Given the description of an element on the screen output the (x, y) to click on. 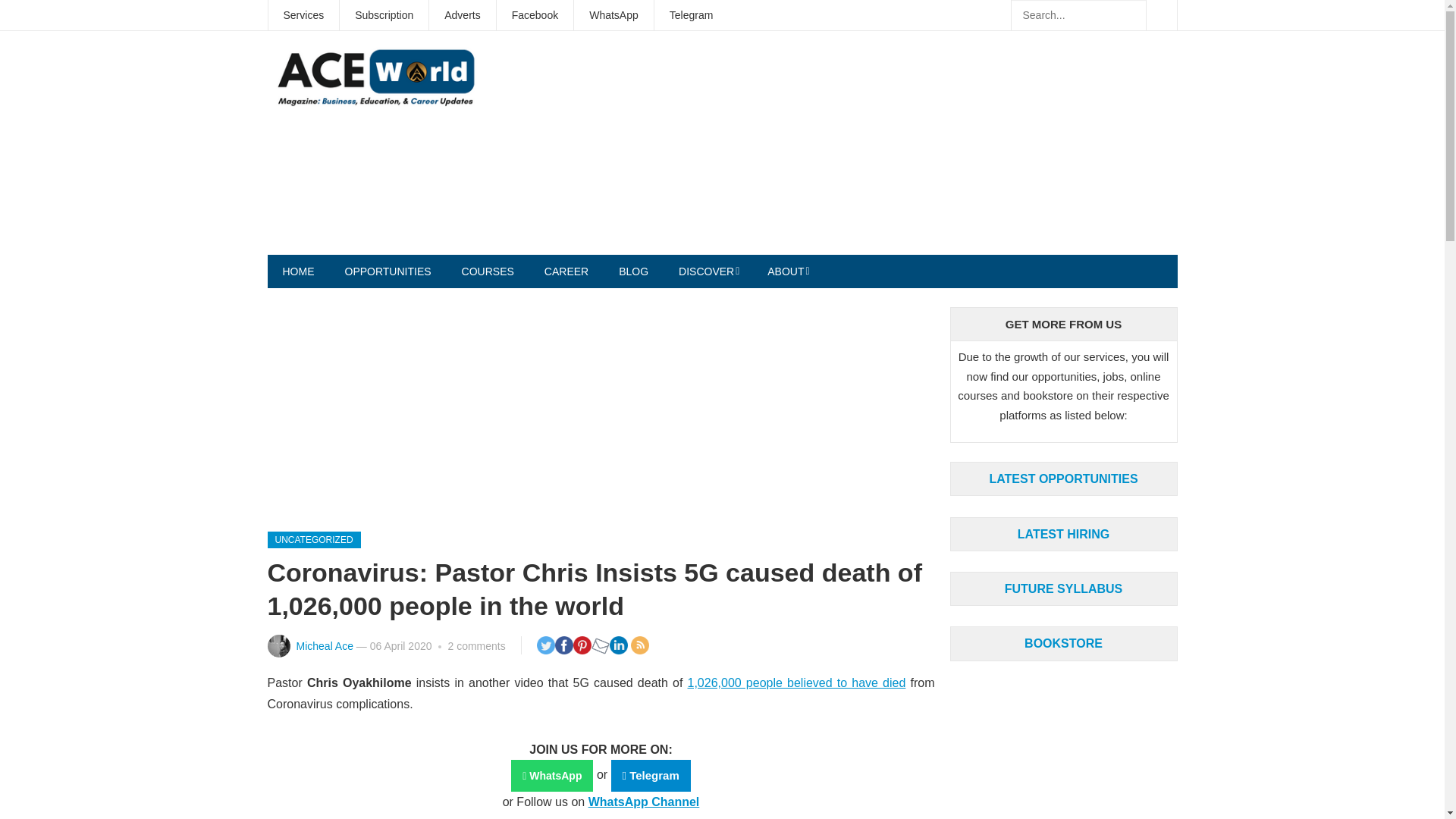
OPPORTUNITIES (387, 271)
Telegram (691, 15)
HOME (297, 271)
Services (303, 15)
View all posts in Uncategorized (312, 539)
Adverts (462, 15)
ABOUT (787, 271)
2 comments (475, 645)
Advertisement (900, 148)
Posts by Micheal Ace (323, 645)
DISCOVER (707, 271)
Micheal Ace (323, 645)
Facebook (534, 15)
BLOG (633, 271)
